Given the description of an element on the screen output the (x, y) to click on. 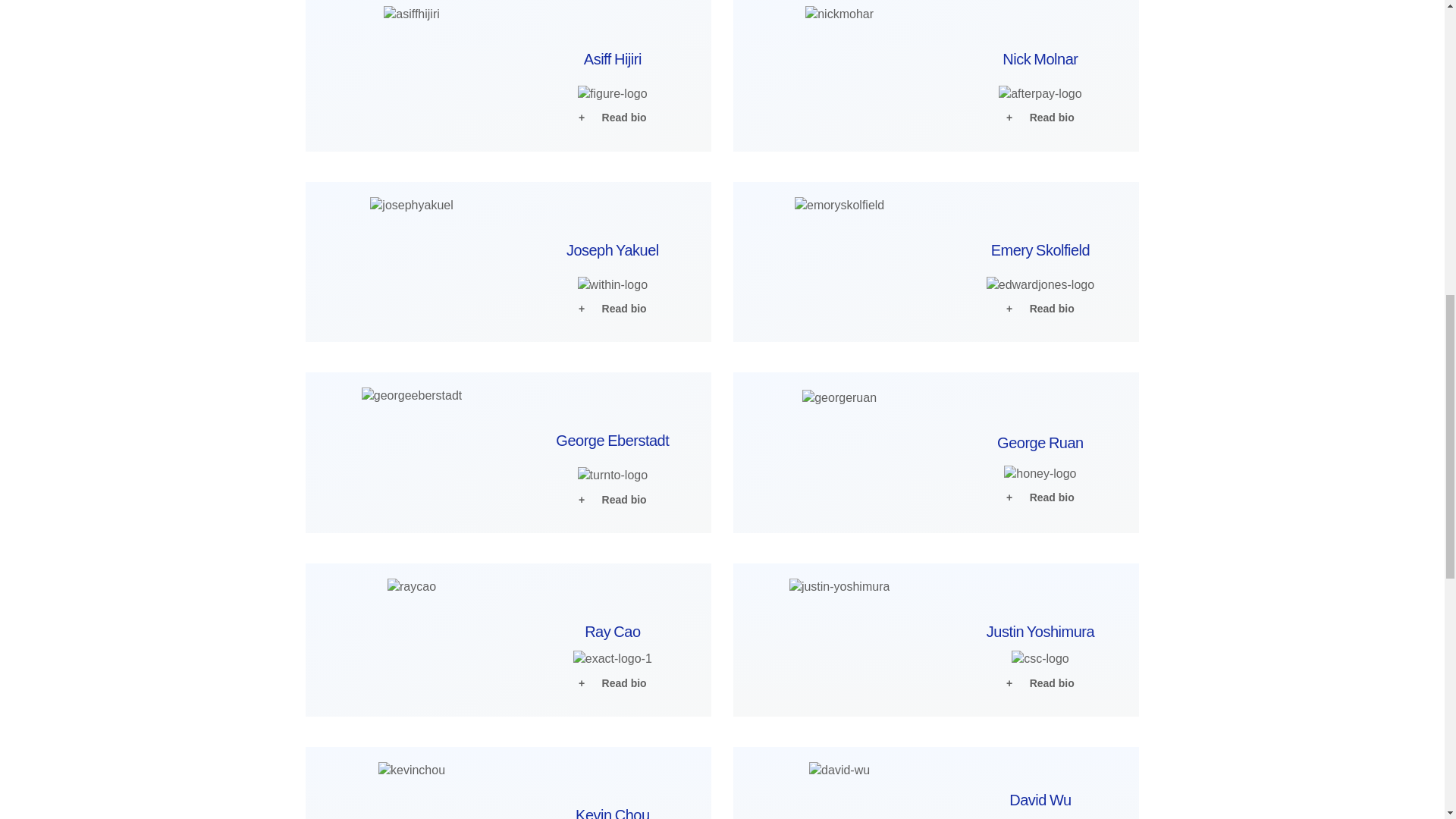
exact-logo-1 (612, 658)
turnto-logo (612, 475)
georgeruan (839, 397)
georgeeberstadt (412, 395)
edwardjones-logo (1040, 284)
honey-logo (1039, 474)
afterpay-logo (1039, 93)
figure-logo (612, 93)
raycao (411, 586)
nickmohar (839, 13)
